Given the description of an element on the screen output the (x, y) to click on. 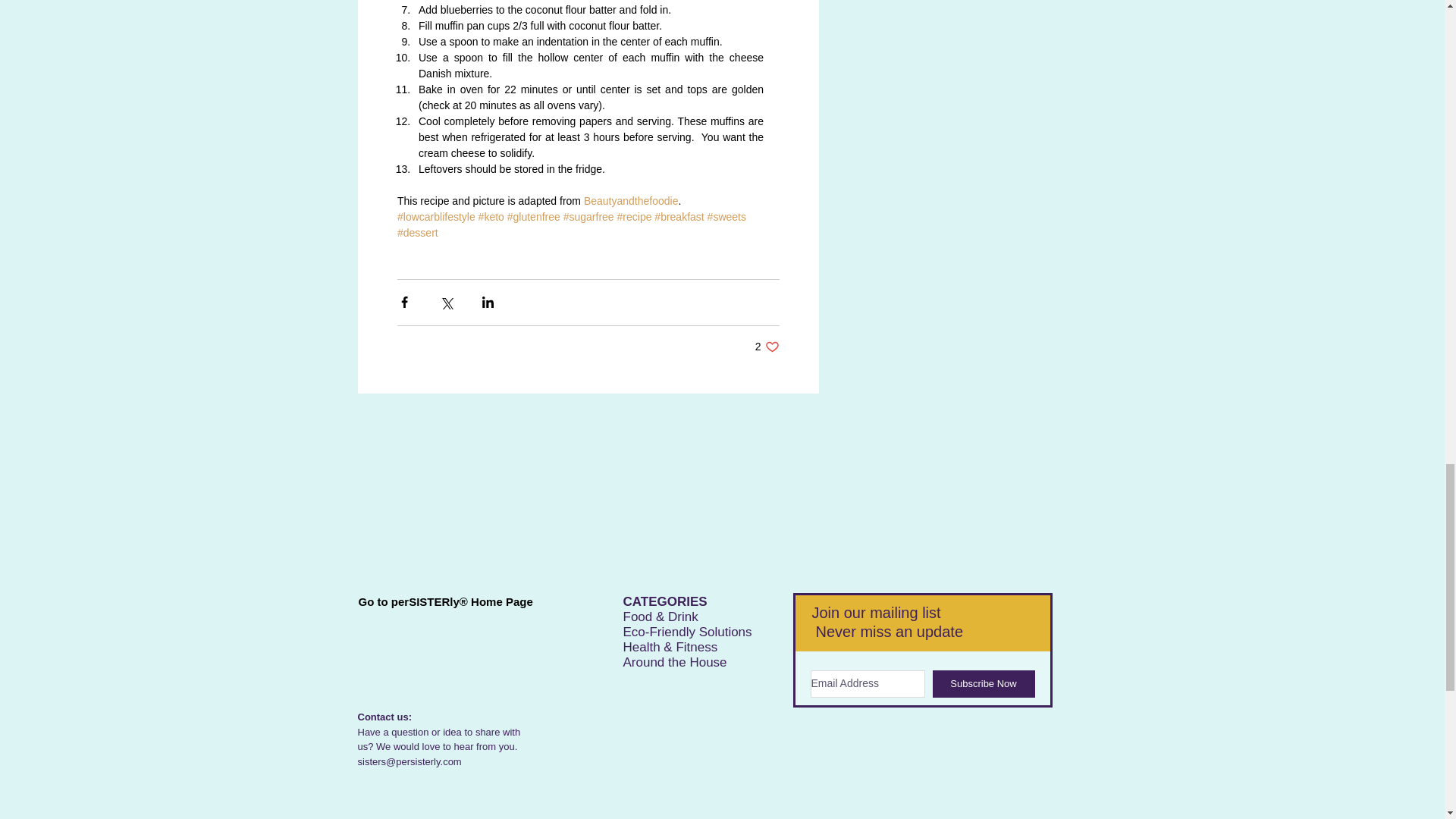
Beautyandthefoodie (630, 200)
